Given the description of an element on the screen output the (x, y) to click on. 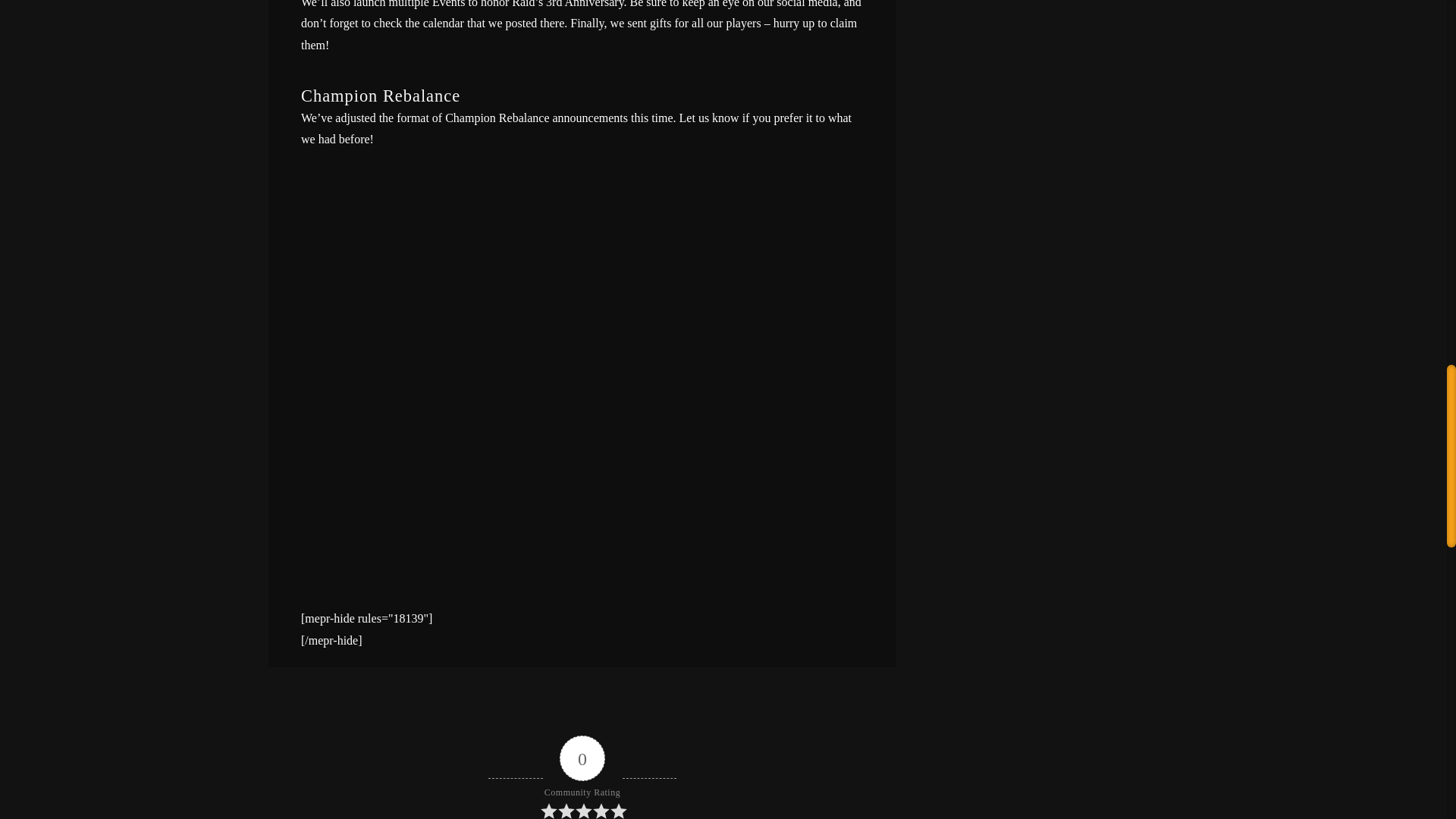
YouTube video player 1 (582, 707)
